Given the description of an element on the screen output the (x, y) to click on. 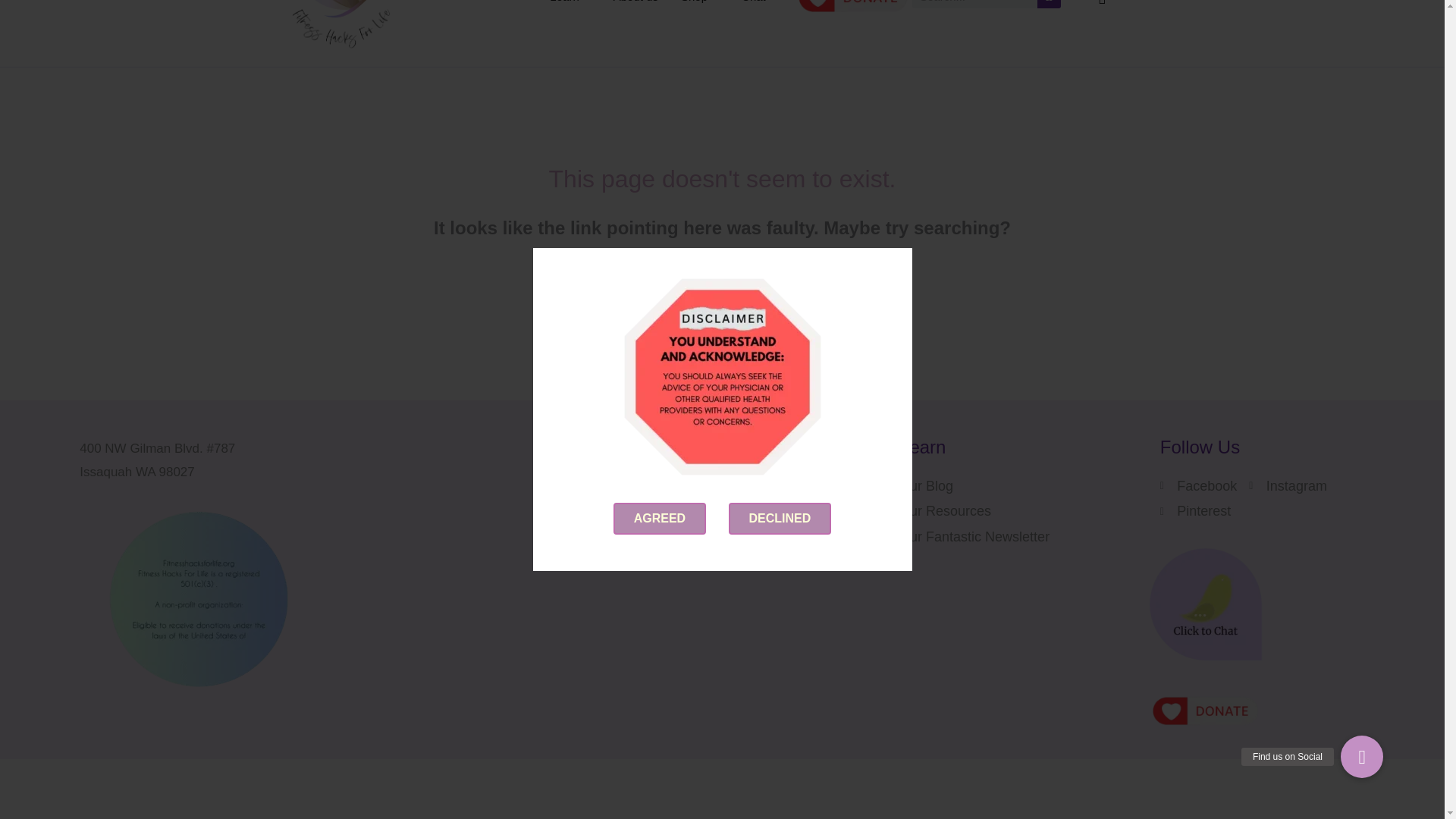
Shop (699, 21)
Learn (569, 21)
About us (635, 21)
DECLINED (780, 445)
